Given the description of an element on the screen output the (x, y) to click on. 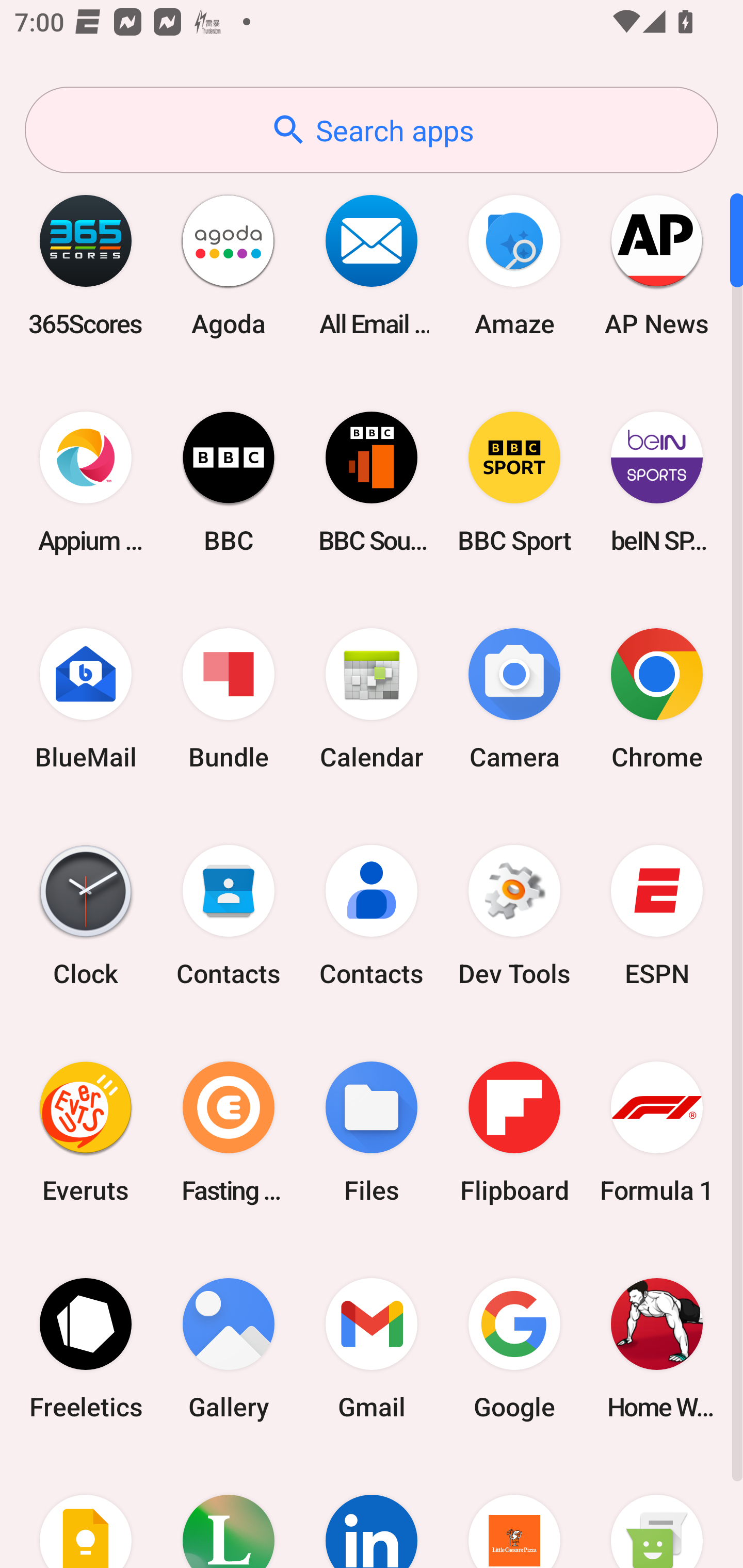
  Search apps (371, 130)
365Scores (85, 264)
Agoda (228, 264)
All Email Connect (371, 264)
Amaze (514, 264)
AP News (656, 264)
Appium Settings (85, 482)
BBC (228, 482)
BBC Sounds (371, 482)
BBC Sport (514, 482)
beIN SPORTS (656, 482)
BlueMail (85, 699)
Bundle (228, 699)
Calendar (371, 699)
Camera (514, 699)
Chrome (656, 699)
Clock (85, 915)
Contacts (228, 915)
Contacts (371, 915)
Dev Tools (514, 915)
ESPN (656, 915)
Everuts (85, 1131)
Fasting Coach (228, 1131)
Files (371, 1131)
Flipboard (514, 1131)
Formula 1 (656, 1131)
Freeletics (85, 1348)
Gallery (228, 1348)
Gmail (371, 1348)
Google (514, 1348)
Home Workout (656, 1348)
Keep Notes (85, 1512)
Lifesum (228, 1512)
LinkedIn (371, 1512)
Little Caesars Pizza (514, 1512)
Messaging (656, 1512)
